Given the description of an element on the screen output the (x, y) to click on. 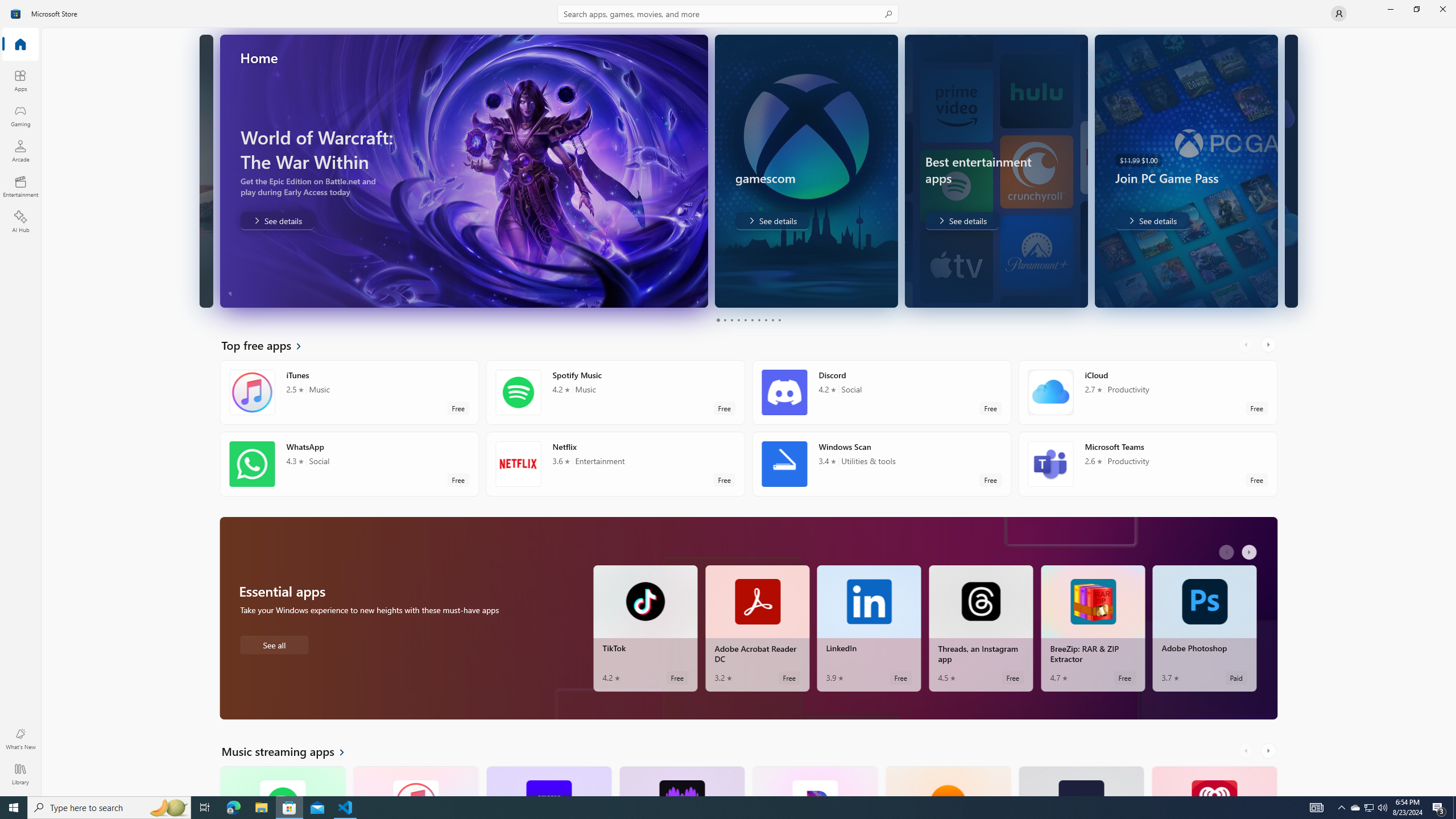
Netflix. Average rating of 3.6 out of five stars. Free   (615, 463)
iCloud. Average rating of 2.7 out of five stars. Free   (1146, 392)
Page 5 (744, 319)
Page 3 (731, 319)
Page 1 (717, 319)
AutomationID: RightScrollButton (1269, 750)
Search (727, 13)
WhatsApp. Average rating of 4.3 out of five stars. Free   (349, 463)
